Given the description of an element on the screen output the (x, y) to click on. 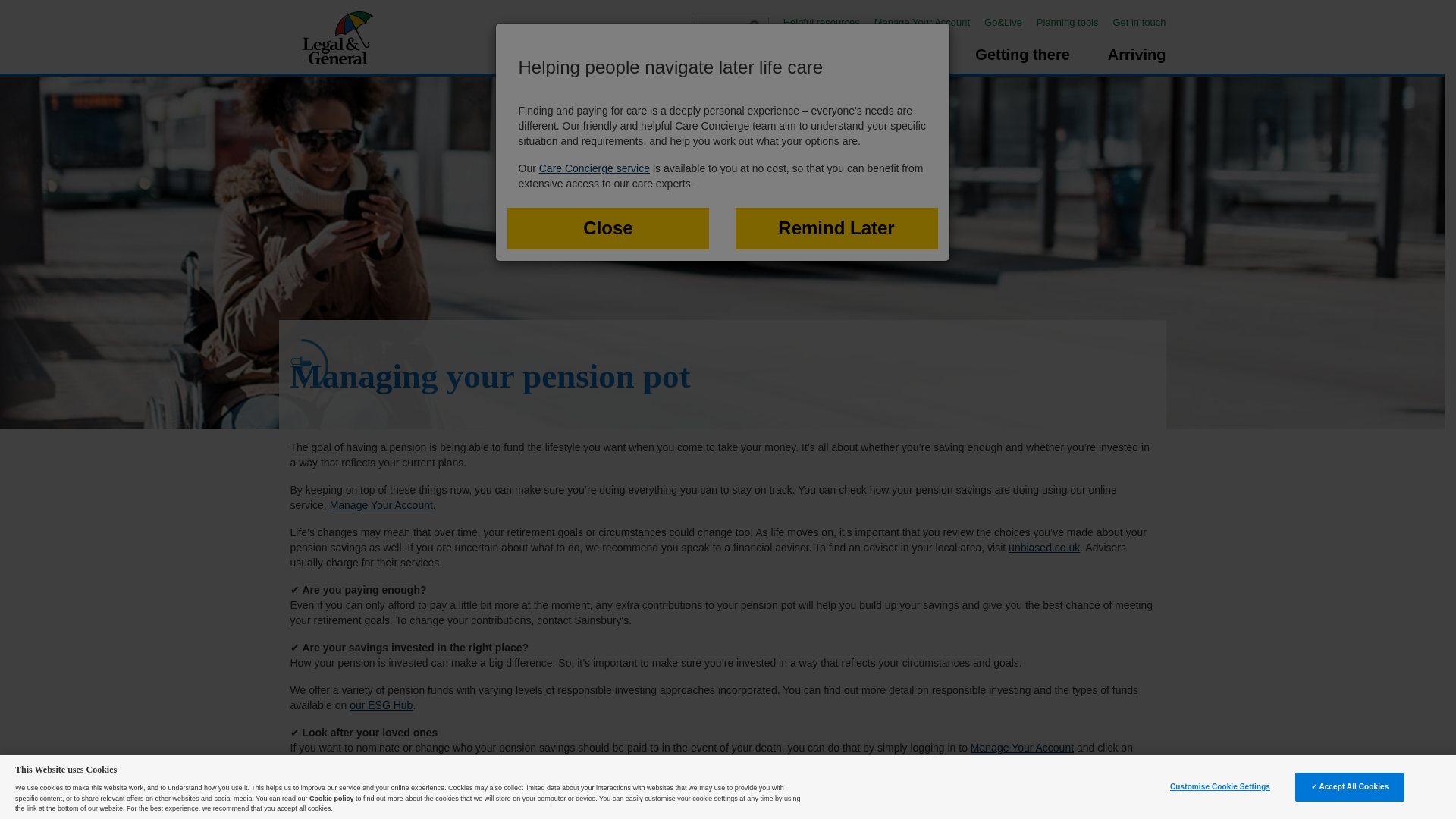
Get in touch (1139, 21)
unbiased.co.uk - opens in new window. (1044, 547)
On your way (891, 59)
Planning tools (1072, 21)
Joining (781, 59)
Helpful resources (826, 21)
Manage Your Account (928, 21)
